Given the description of an element on the screen output the (x, y) to click on. 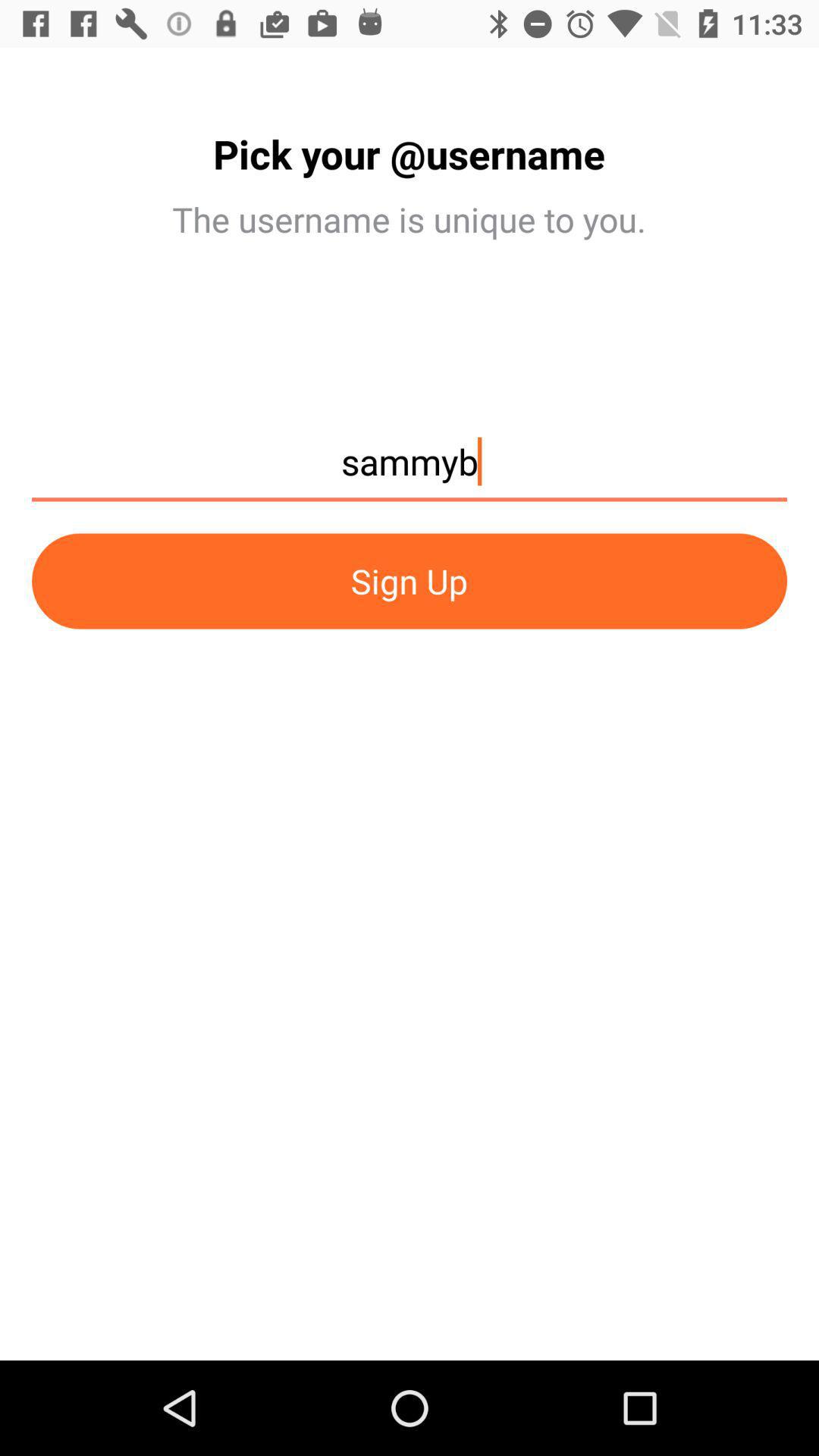
scroll to the sign up (409, 581)
